Given the description of an element on the screen output the (x, y) to click on. 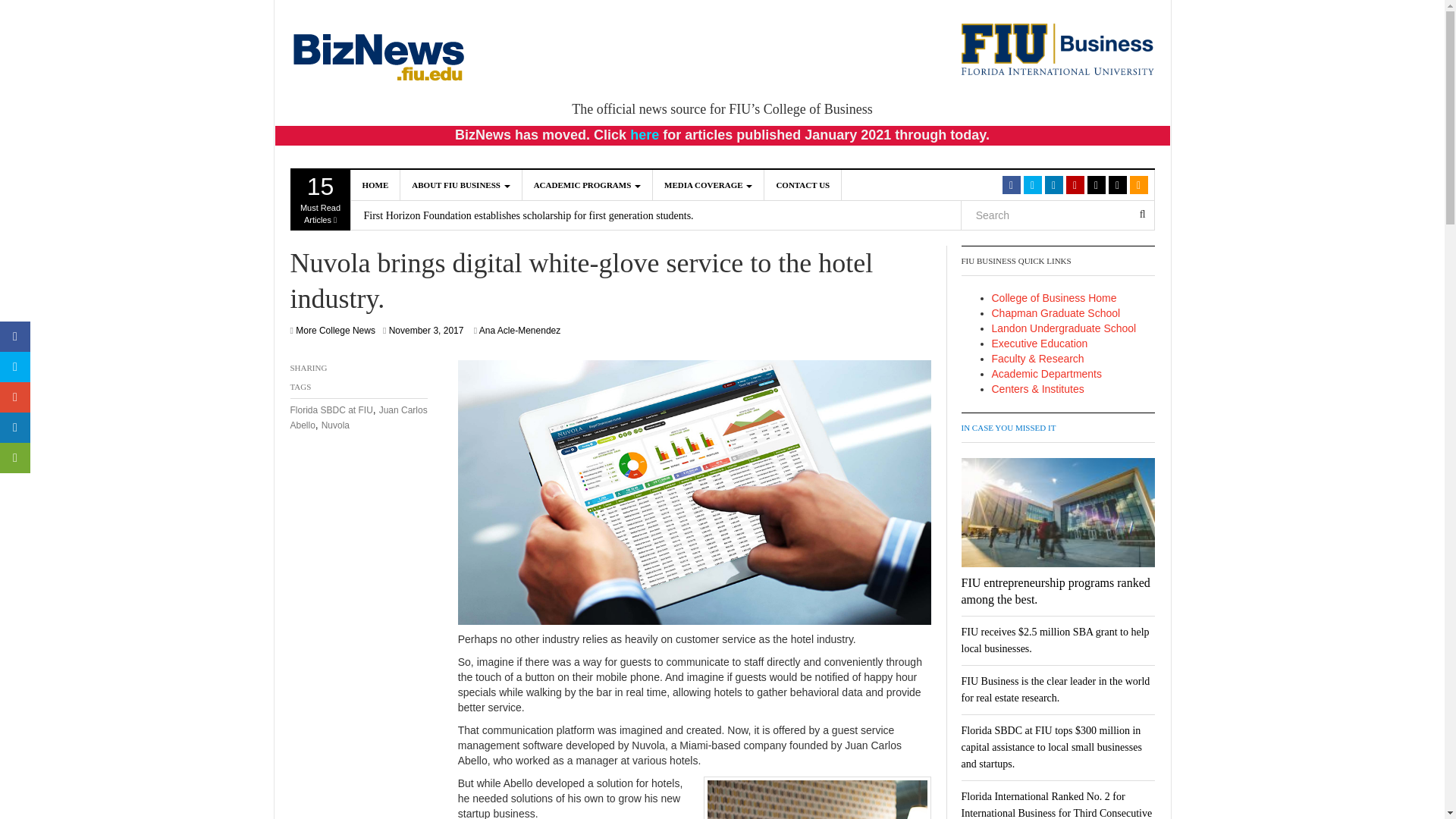
ABOUT FIU BUSINESS (319, 199)
HOME (460, 184)
here (375, 184)
Juan Carlos Abello (644, 134)
MEDIA COVERAGE (816, 799)
ACADEMIC PROGRAMS (708, 184)
